Given the description of an element on the screen output the (x, y) to click on. 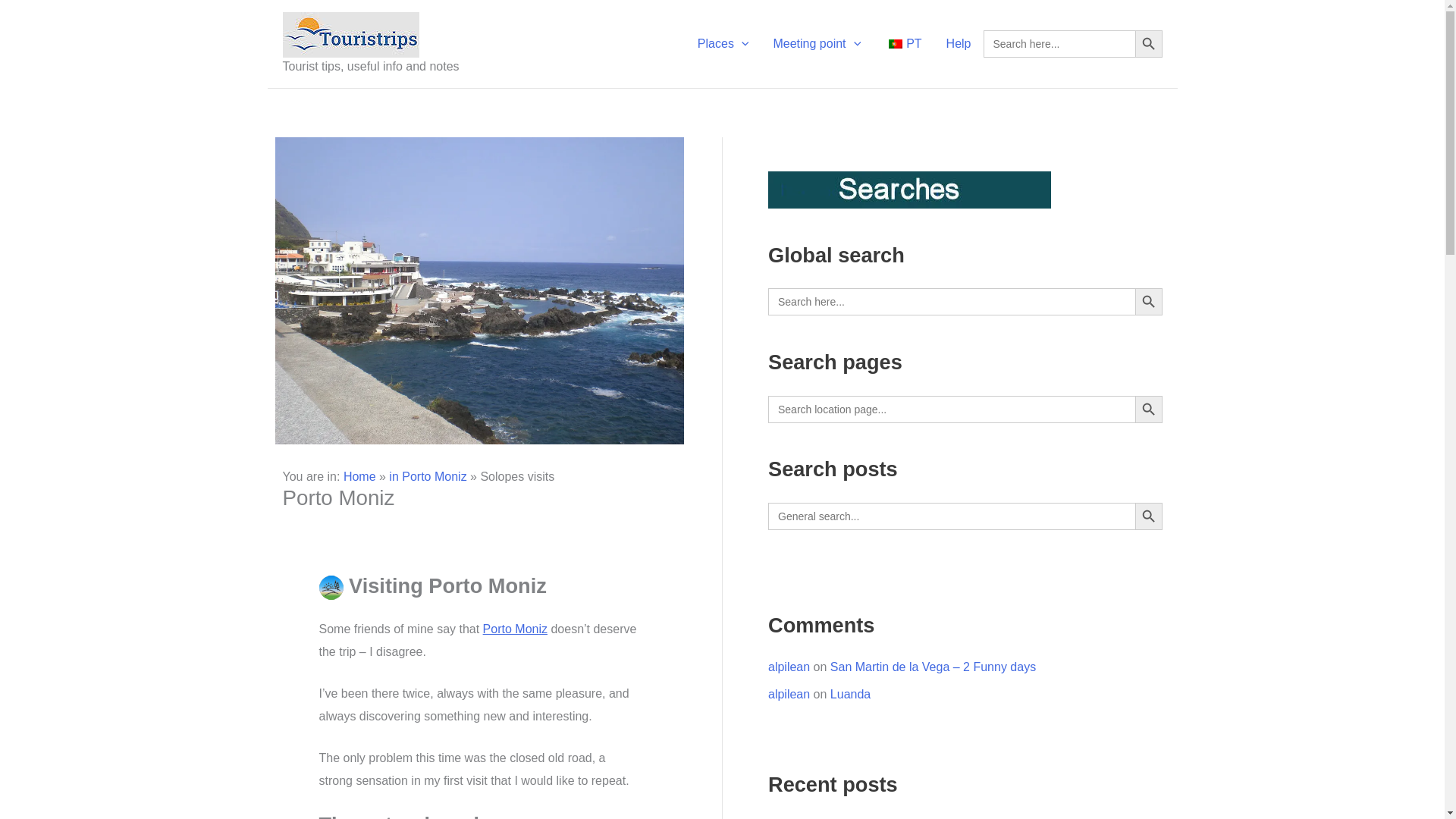
Meeting point (816, 43)
Home (359, 476)
Porto Moniz (515, 628)
Places (723, 43)
Porto Moniz 3 (330, 587)
PT (902, 43)
Porto Moniz 1 (479, 290)
in Porto Moniz (426, 476)
Search Button (1147, 43)
